Given the description of an element on the screen output the (x, y) to click on. 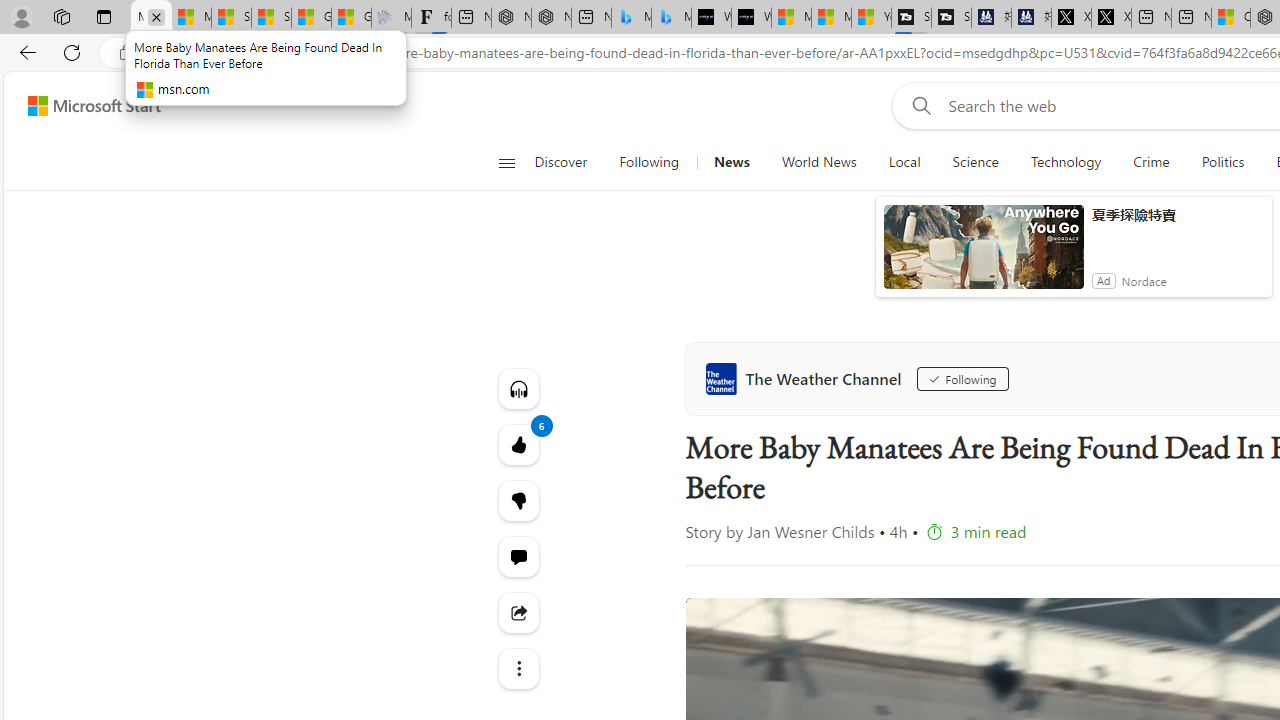
Skip to footer (82, 105)
More like this6Fewer like thisStart the conversation (517, 500)
Nordace - #1 Japanese Best-Seller - Siena Smart Backpack (551, 17)
See more (517, 668)
Microsoft Bing Travel - Shangri-La Hotel Bangkok (671, 17)
Open navigation menu (506, 162)
News (731, 162)
Ad (1103, 280)
Local (904, 162)
